Given the description of an element on the screen output the (x, y) to click on. 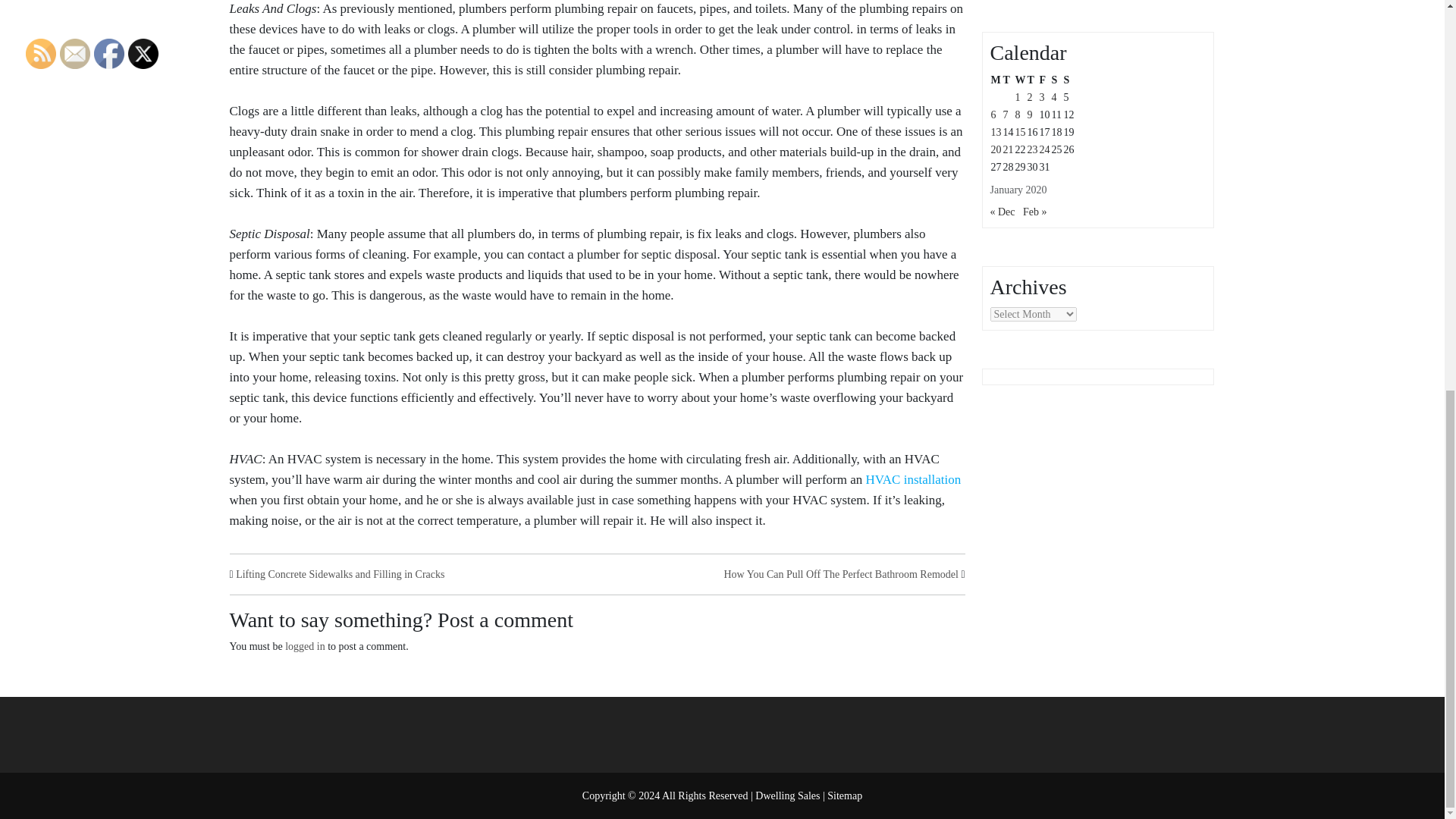
21 (1008, 149)
15 (1019, 132)
Lifting Concrete Sidewalks and Filling in Cracks (339, 573)
How You Can Pull Off The Perfect Bathroom Remodel (840, 573)
20 (995, 149)
logged in (304, 645)
23 (1031, 149)
HVAC installation (912, 479)
13 (995, 132)
Follow by Email (74, 53)
RSS (41, 53)
Facebook (108, 53)
24 (1044, 149)
Ac services, Heating system installation (912, 479)
